Given the description of an element on the screen output the (x, y) to click on. 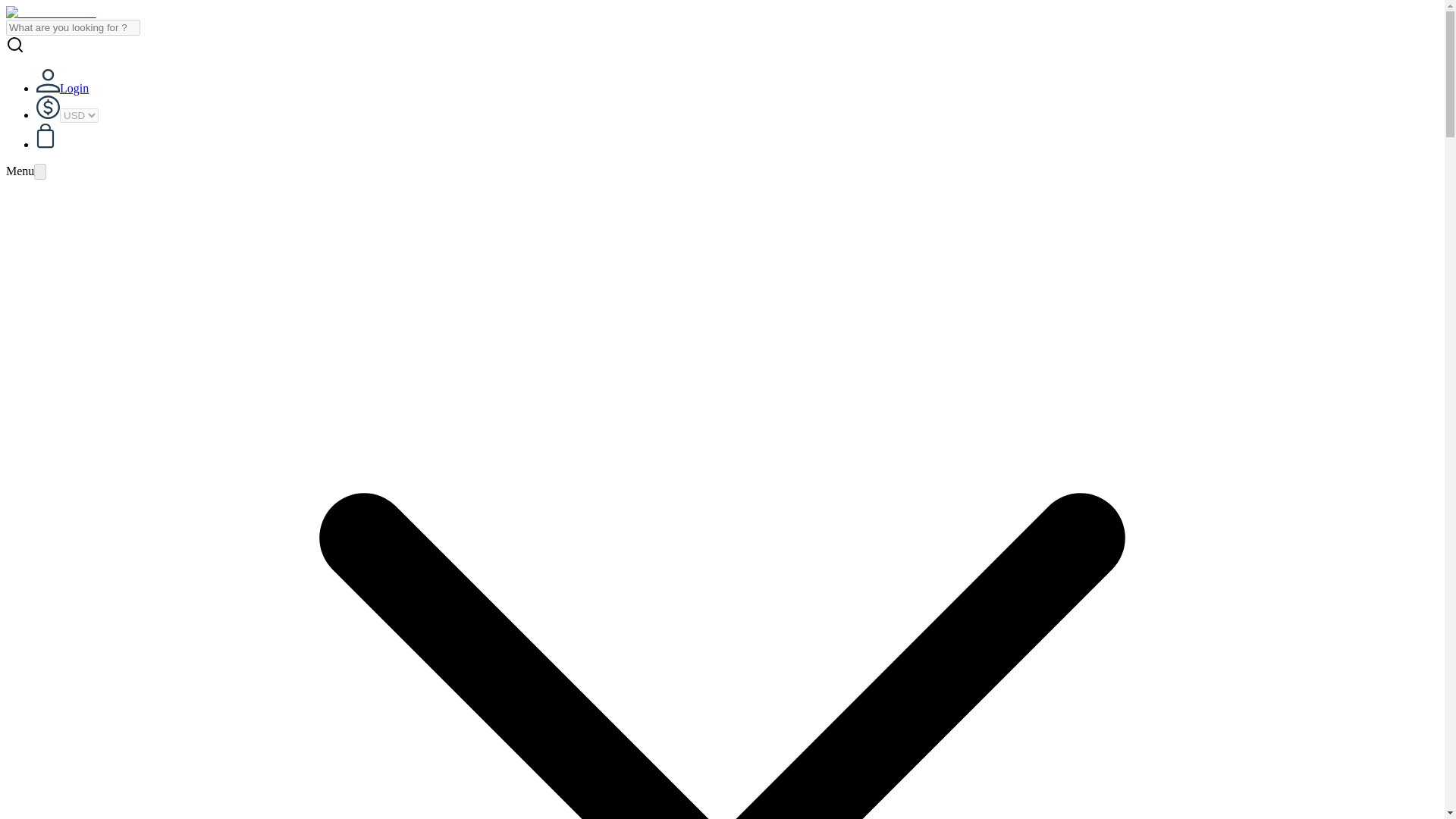
Login (62, 88)
